Given the description of an element on the screen output the (x, y) to click on. 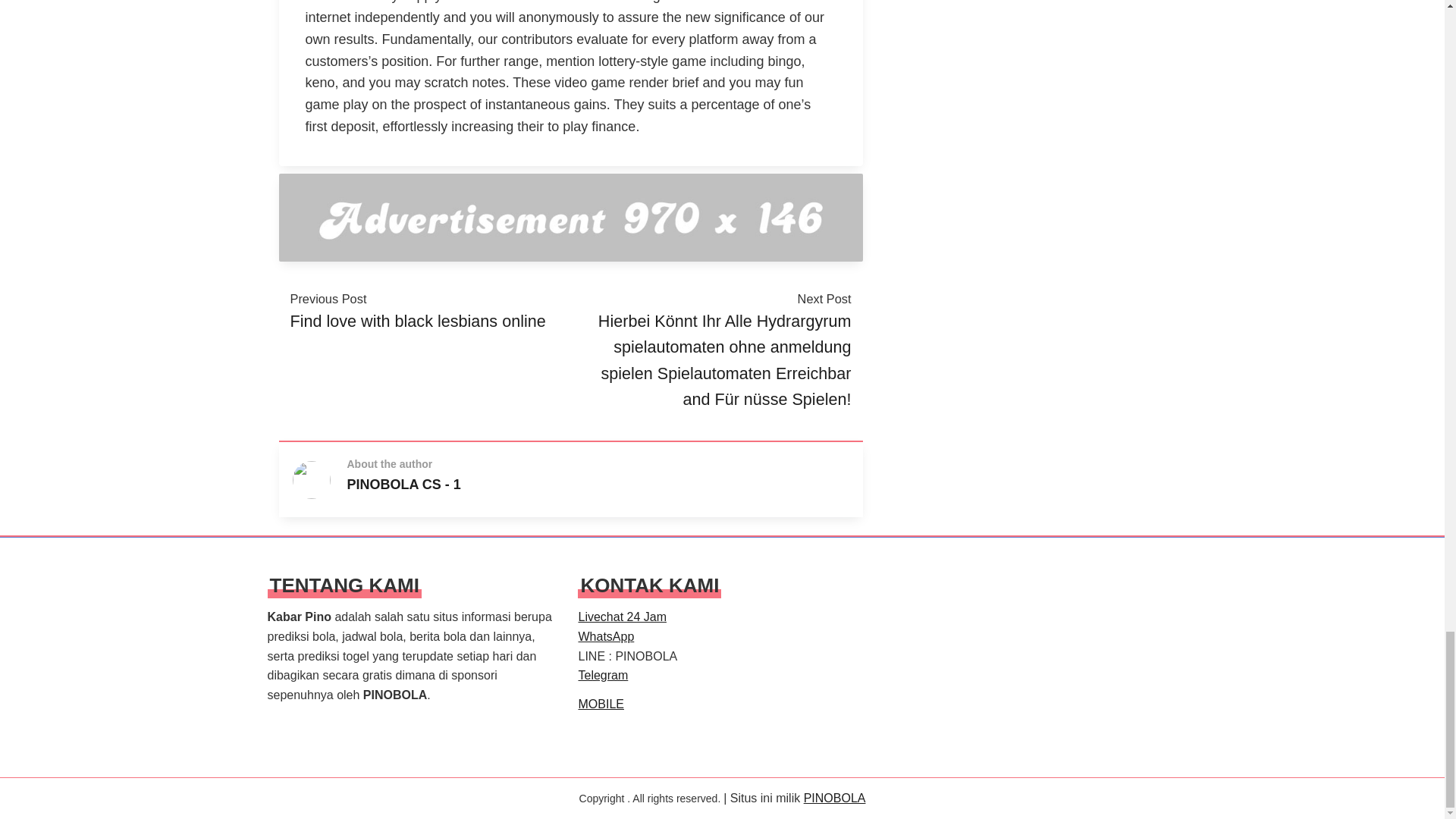
Find love with black lesbians online (416, 321)
